Given the description of an element on the screen output the (x, y) to click on. 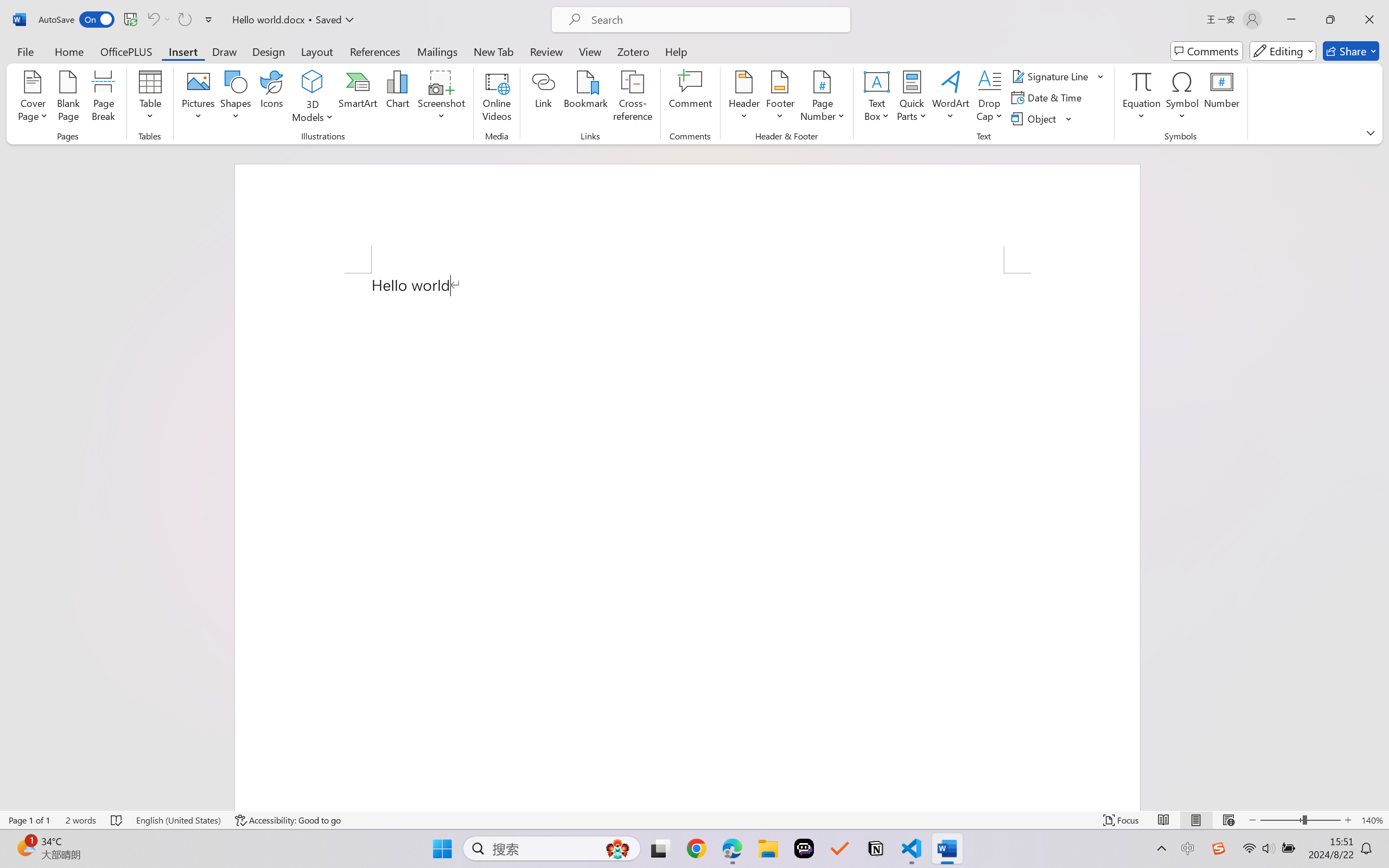
Page Number (822, 97)
Design (268, 51)
AutomationID: BadgeAnchorLargeTicker (24, 847)
3D Models (312, 81)
Text Box (876, 97)
Zotero (632, 51)
Draw (224, 51)
More Options (1141, 112)
Date & Time... (1048, 97)
Cover Page (33, 97)
References (375, 51)
Screenshot (441, 97)
View (589, 51)
Zoom In (1348, 819)
Mode (1283, 50)
